Given the description of an element on the screen output the (x, y) to click on. 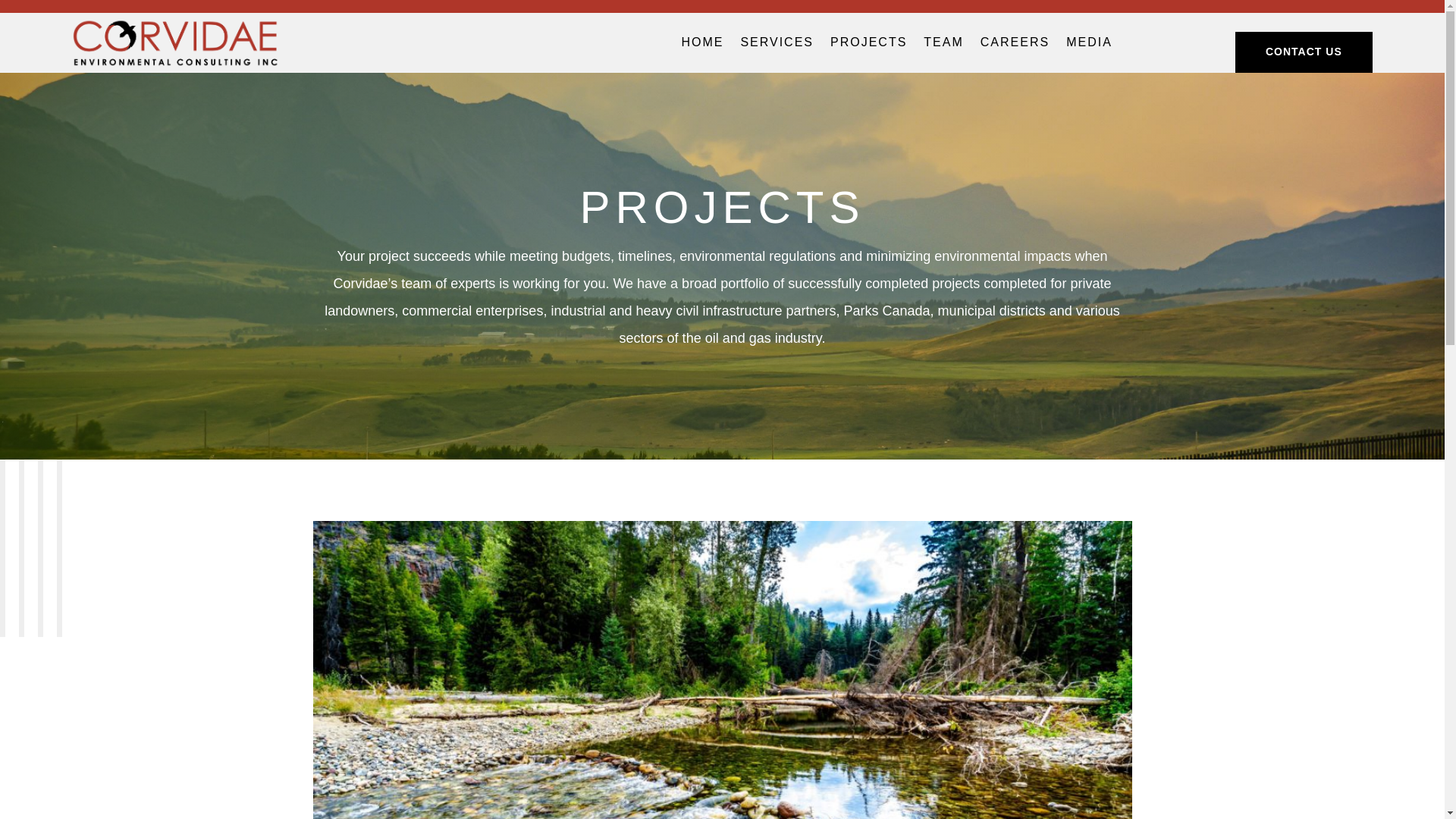
MEDIA (1088, 45)
SERVICES (776, 45)
HOME (702, 45)
PROJECTS (868, 45)
CONTACT US (1303, 51)
TEAM (942, 45)
CAREERS (1014, 45)
